Given the description of an element on the screen output the (x, y) to click on. 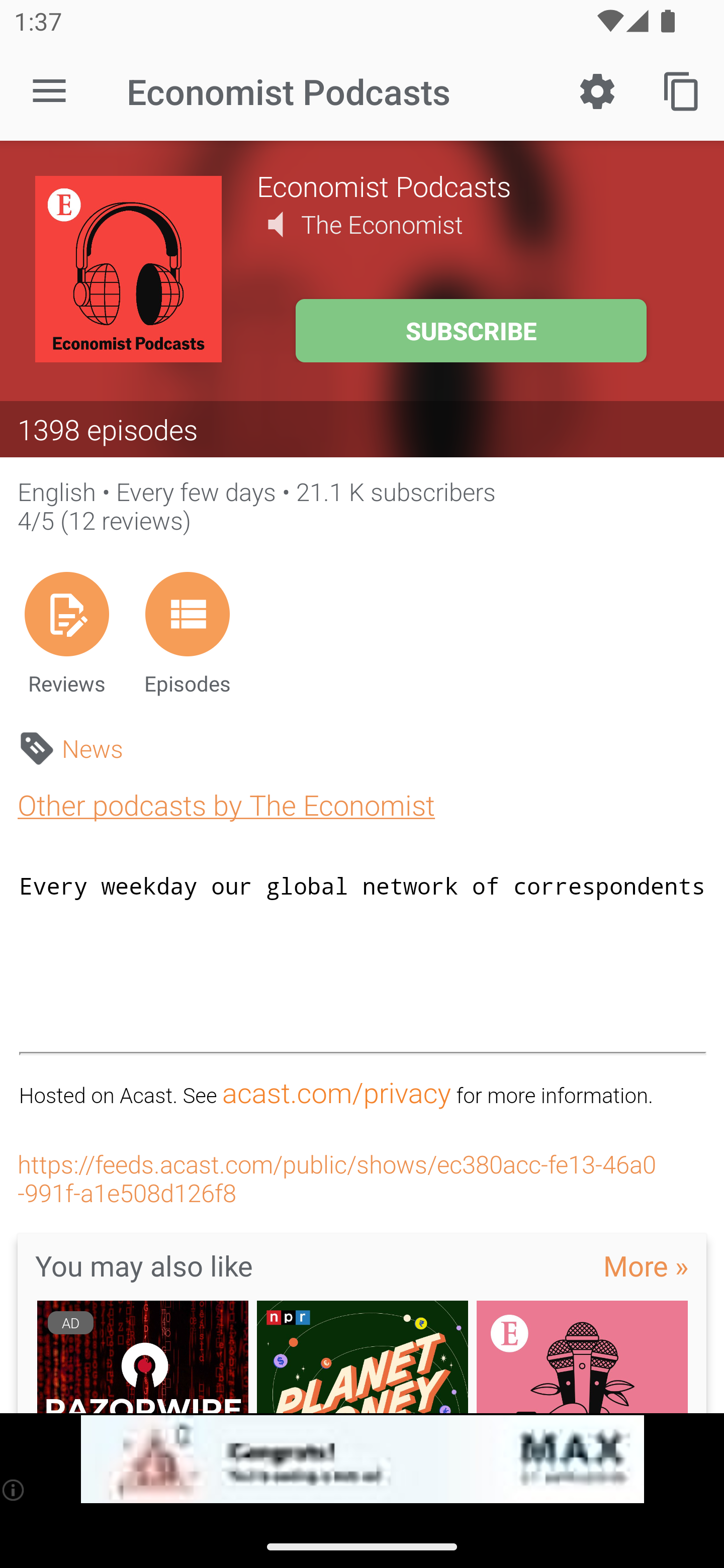
Open navigation sidebar (49, 91)
Settings (597, 90)
Copy feed url to clipboard (681, 90)
Economist Podcasts (472, 185)
SUBSCRIBE (470, 330)
Reviews (66, 633)
Episodes (187, 633)
Other podcasts by The Economist (226, 804)
acast.com/privacy (336, 1092)
More » (645, 1265)
AD (142, 1355)
app-monetization (362, 1459)
(i) (14, 1489)
